Given the description of an element on the screen output the (x, y) to click on. 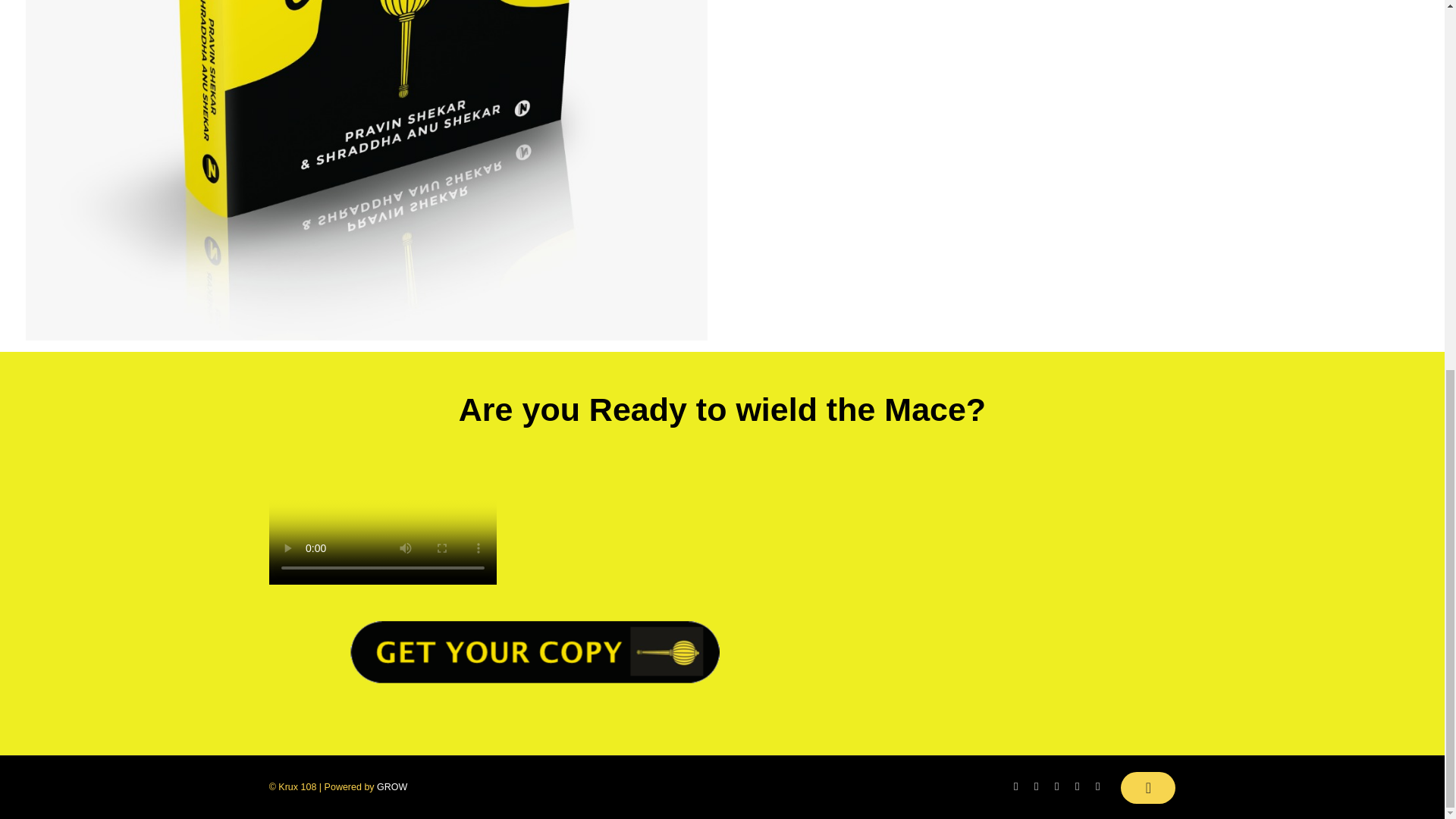
YouTube (1056, 785)
Twitter (1035, 785)
Facebook (1015, 785)
Instagram (1097, 785)
GROW (392, 787)
LinkedIn (1076, 785)
